Given the description of an element on the screen output the (x, y) to click on. 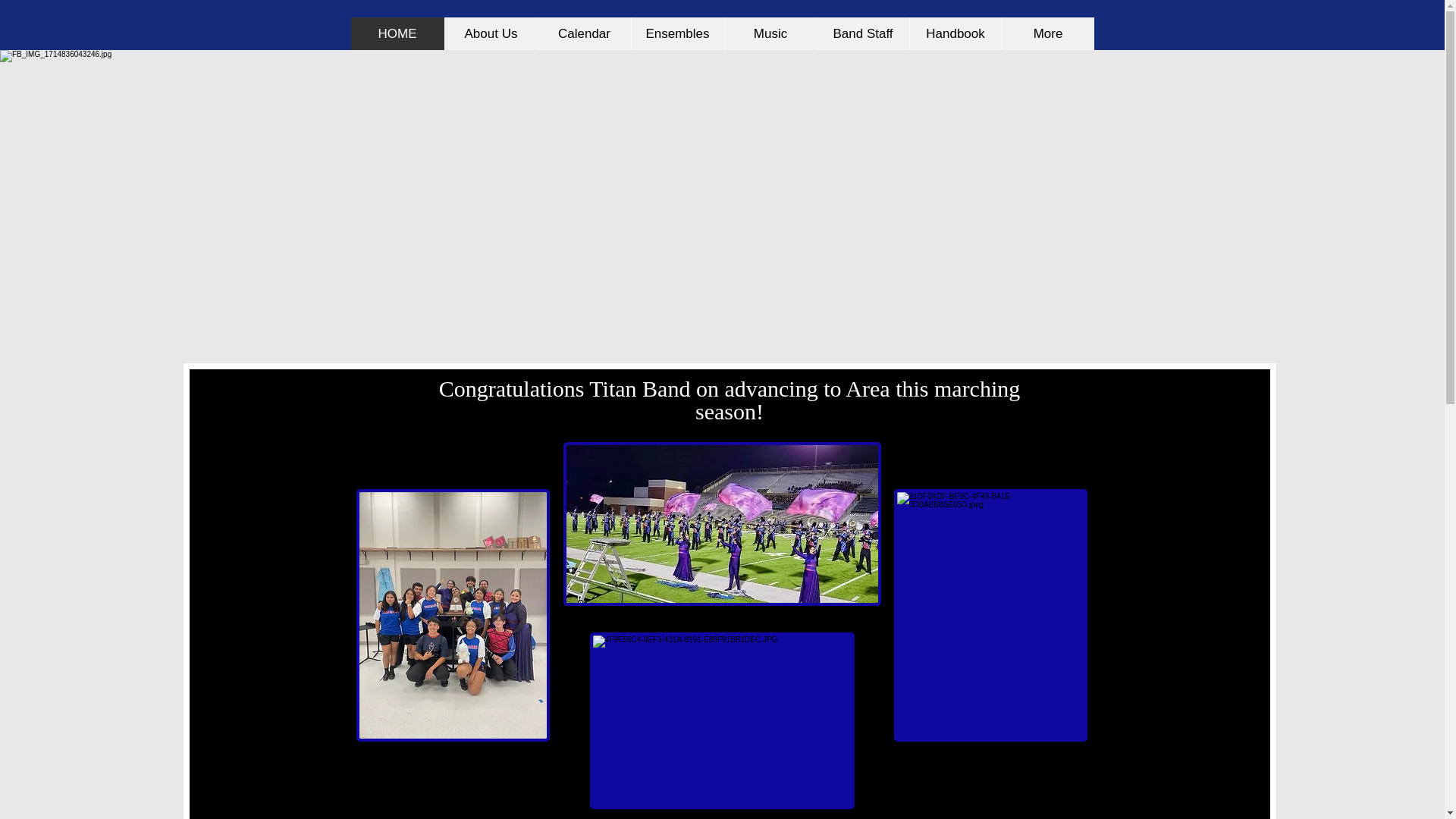
Music (769, 33)
Handbook (954, 33)
About Us (490, 33)
Calendar (583, 33)
Band Staff (861, 33)
Ensembles (676, 33)
HOME (397, 33)
